Given the description of an element on the screen output the (x, y) to click on. 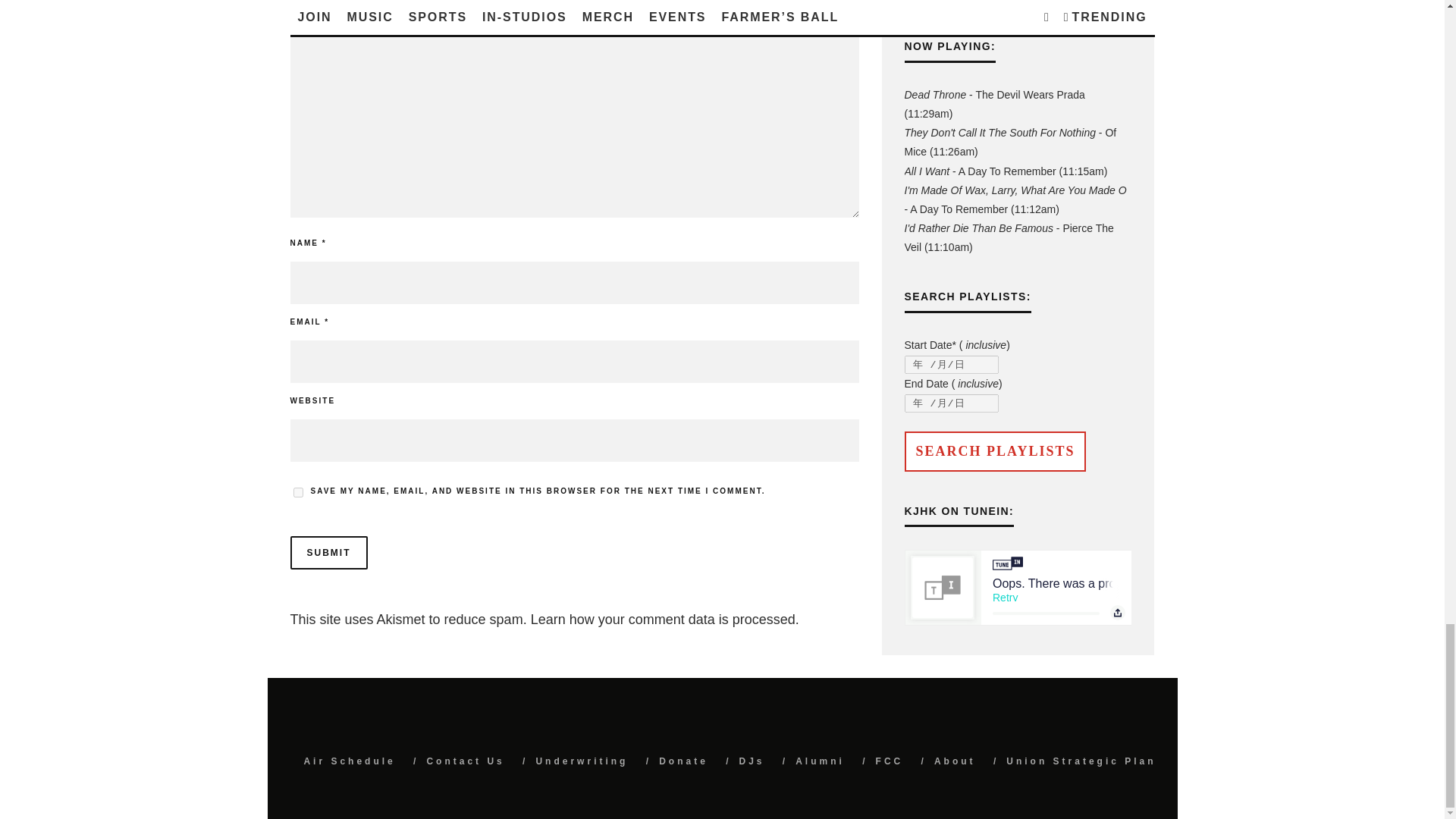
Submit (327, 552)
yes (297, 492)
